Given the description of an element on the screen output the (x, y) to click on. 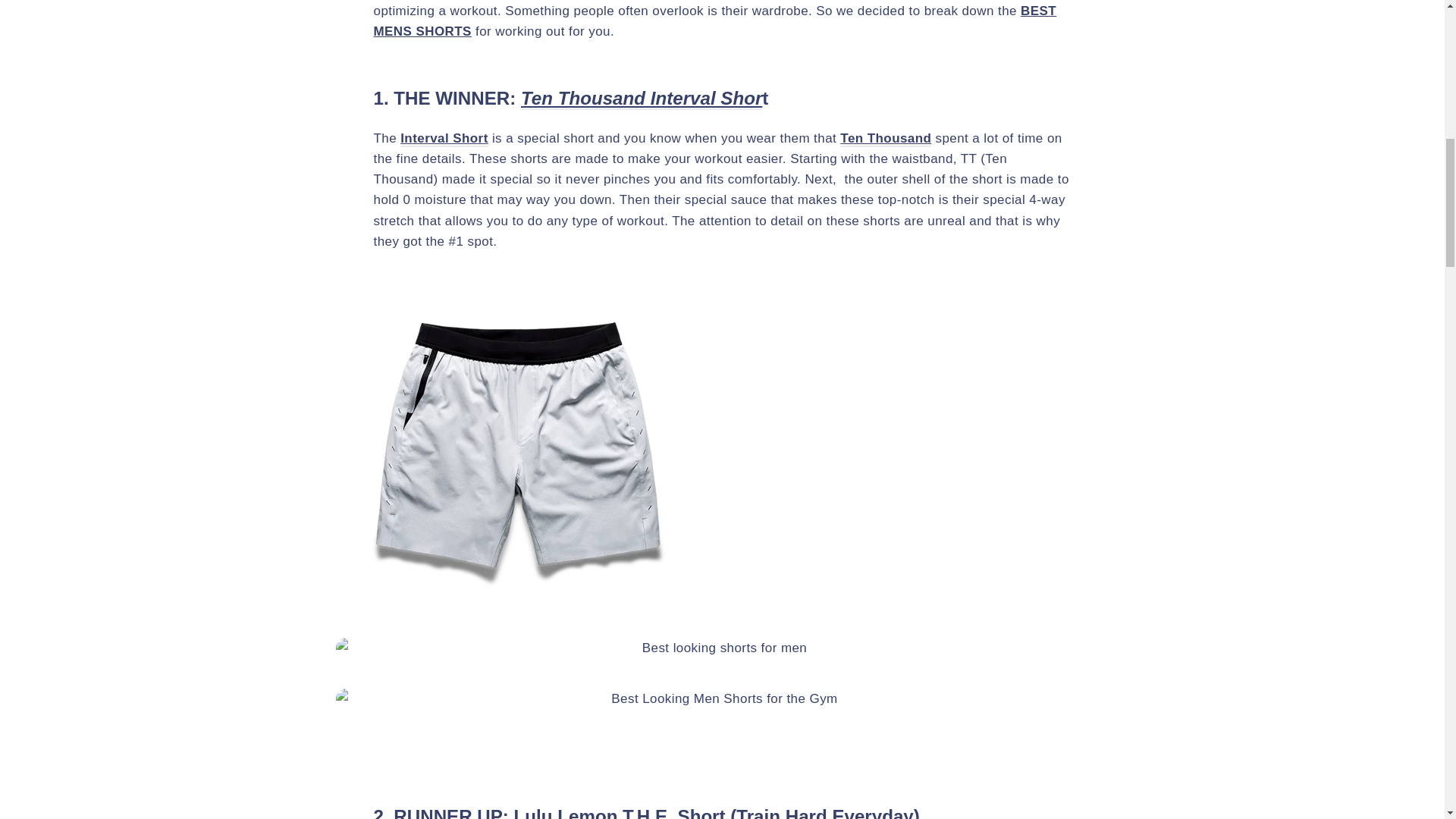
Best Male Shorts for working out (621, 812)
Ten Thousand Apparel Shots Shirts (885, 139)
Best Male Workout Short  (641, 98)
Best Male Shorts for Working Out  (443, 139)
